Given the description of an element on the screen output the (x, y) to click on. 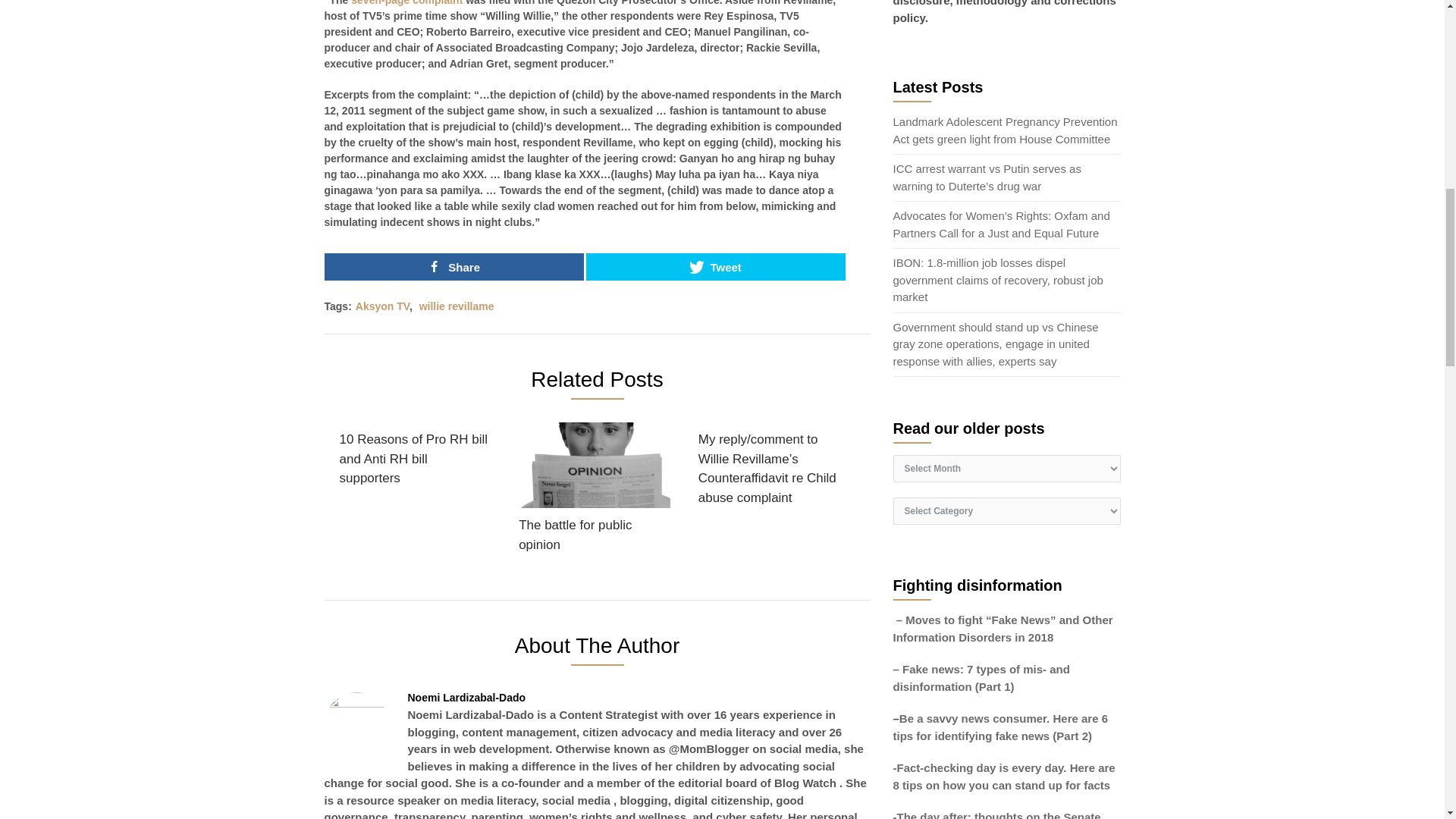
willie revillame (457, 306)
The battle for public opinion (593, 491)
10 Reasons of Pro RH bill and Anti RH bill supporters (415, 459)
Share (453, 266)
Tweet (715, 266)
The battle for public opinion (593, 491)
Aksyon TV (382, 306)
seven-page complaint (406, 2)
10 Reasons of Pro RH bill and Anti RH bill supporters (415, 459)
